Given the description of an element on the screen output the (x, y) to click on. 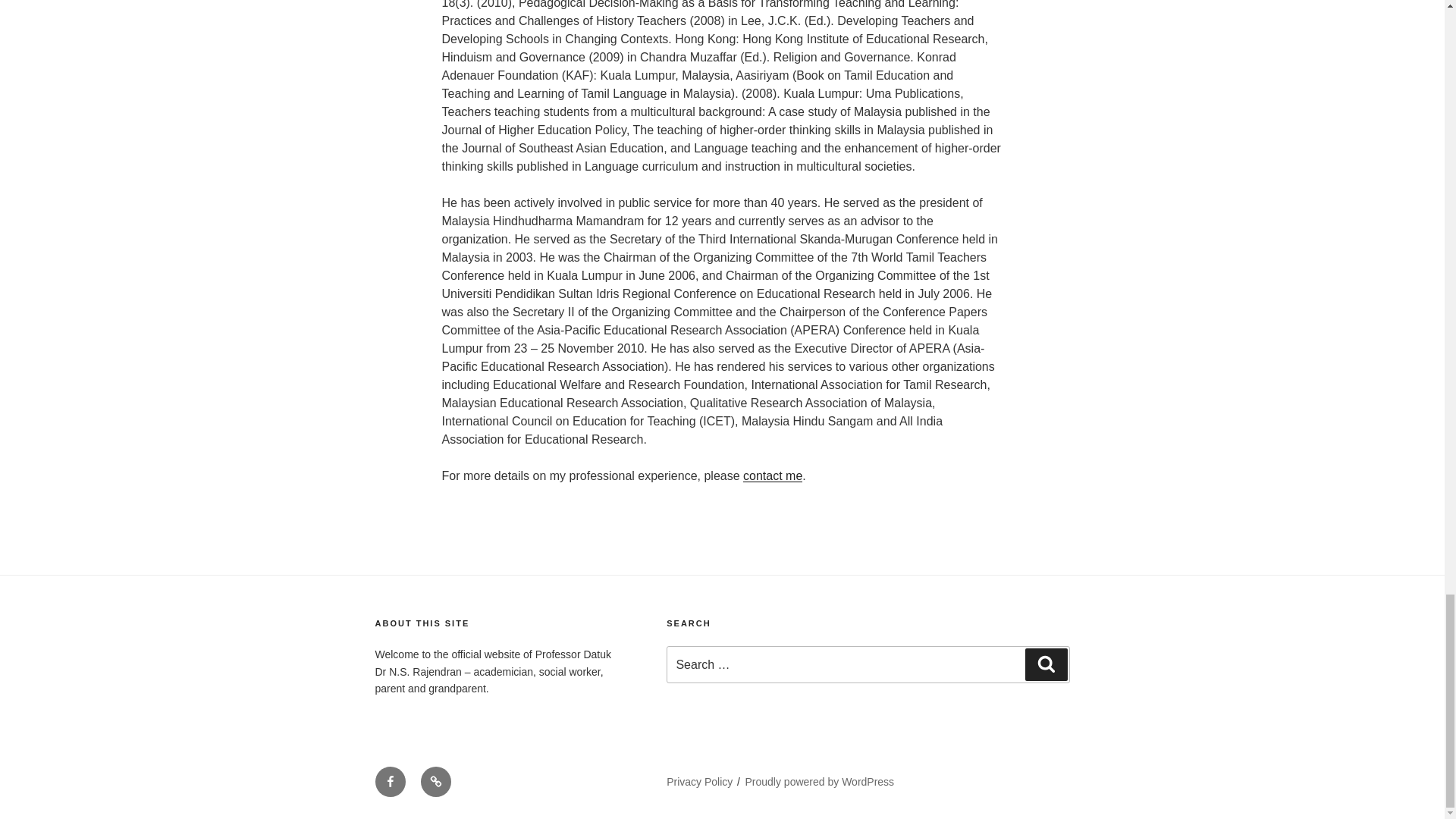
Privacy Policy (699, 781)
Contact (435, 781)
Proudly powered by WordPress (820, 781)
Contact (435, 781)
contact me (772, 475)
Facebook (389, 781)
Facebook (389, 781)
Search (1046, 664)
